Given the description of an element on the screen output the (x, y) to click on. 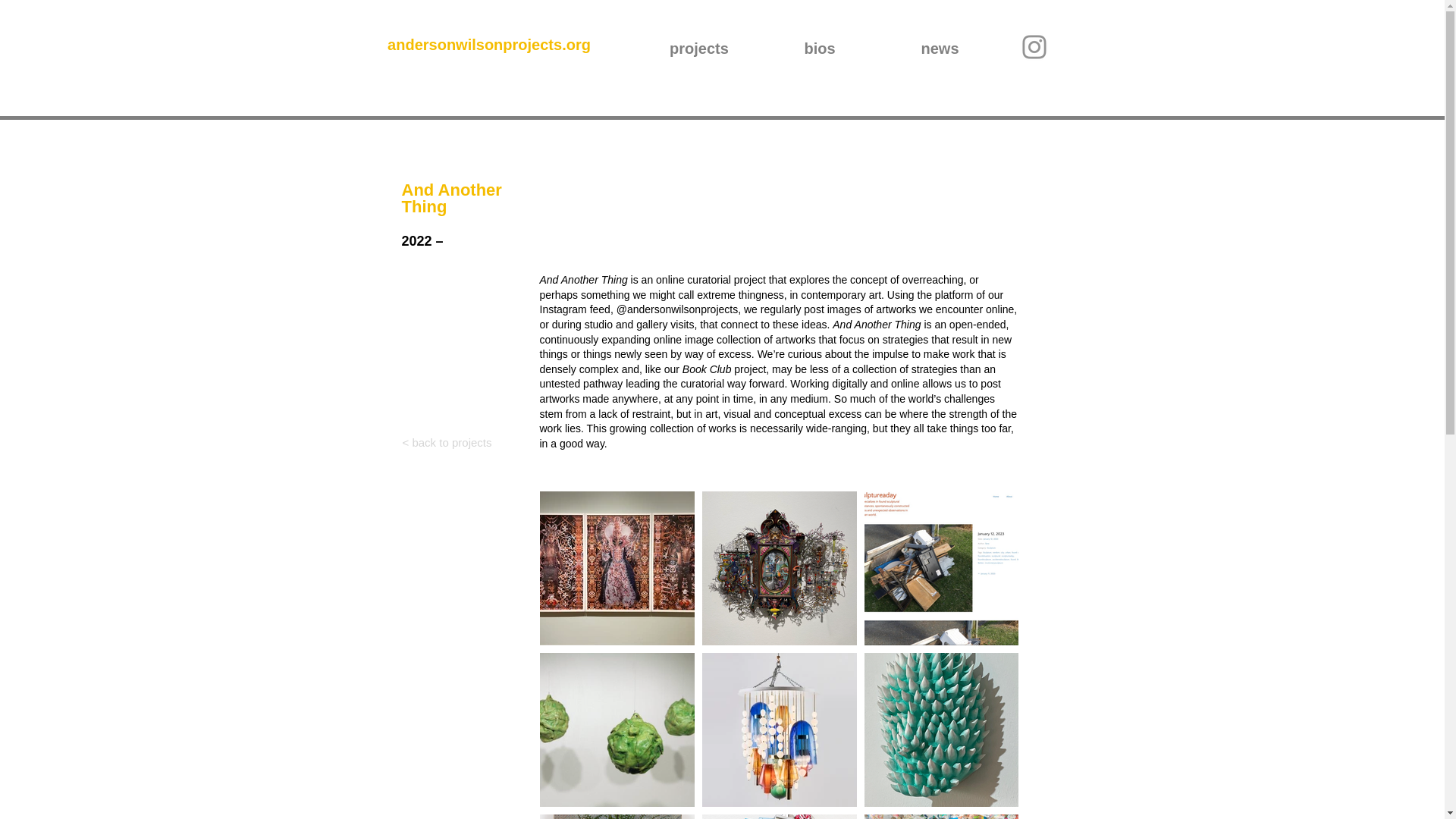
projects (698, 45)
bios (820, 45)
andersonwilsonprojects.org (489, 44)
news (938, 45)
